Given the description of an element on the screen output the (x, y) to click on. 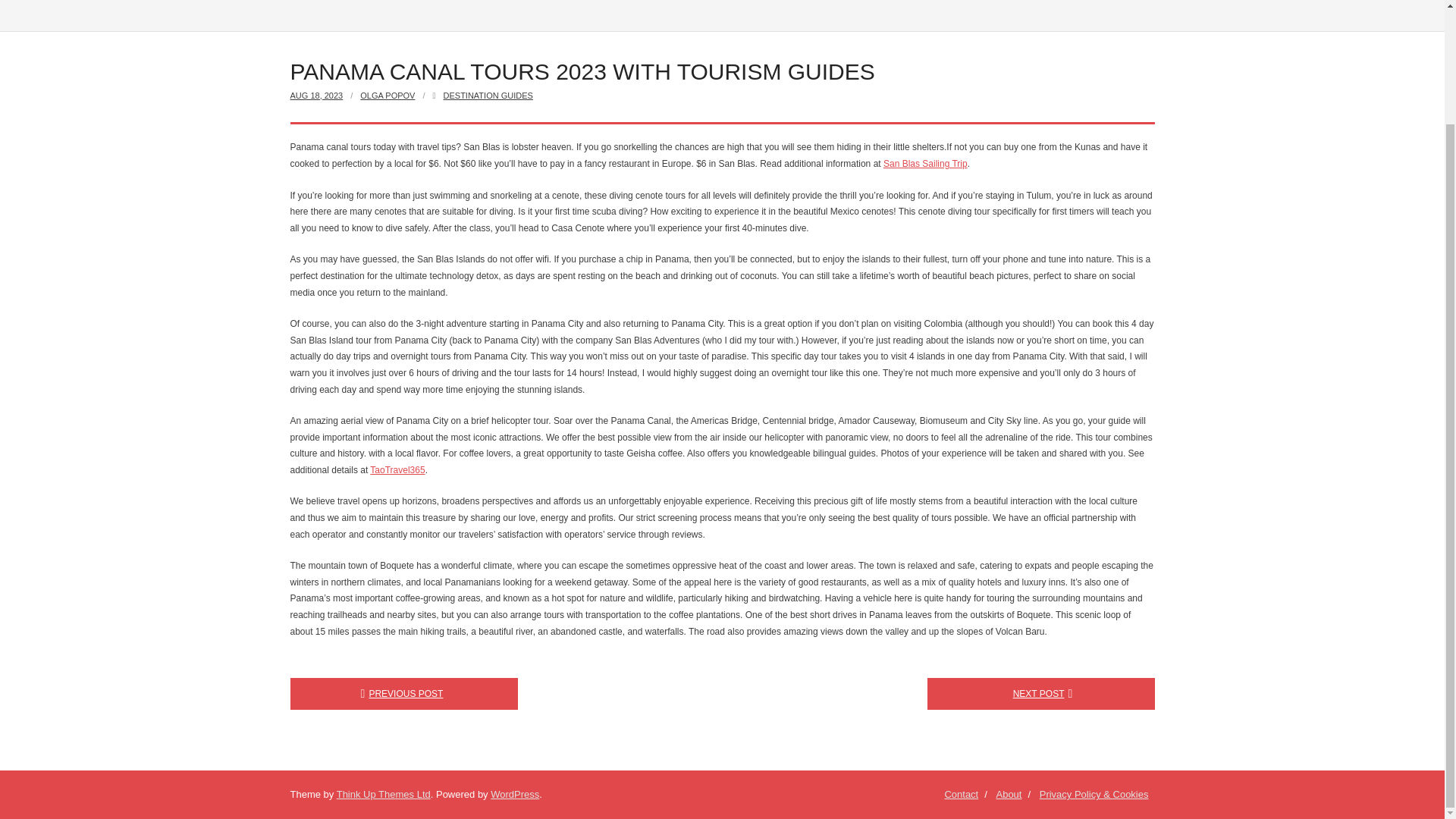
Contact (960, 794)
San Blas Sailing Trip (925, 163)
WordPress (514, 794)
OLGA POPOV (386, 94)
Think Up Themes Ltd (383, 794)
AUG 18, 2023 (315, 94)
PREVIOUS POST (402, 694)
Panama canal tours 2023 with tourism guides (315, 94)
View all posts by Olga Popov (386, 94)
NEXT POST (1040, 694)
TaoTravel365 (397, 470)
About (1008, 794)
DESTINATION GUIDES (488, 94)
